Given the description of an element on the screen output the (x, y) to click on. 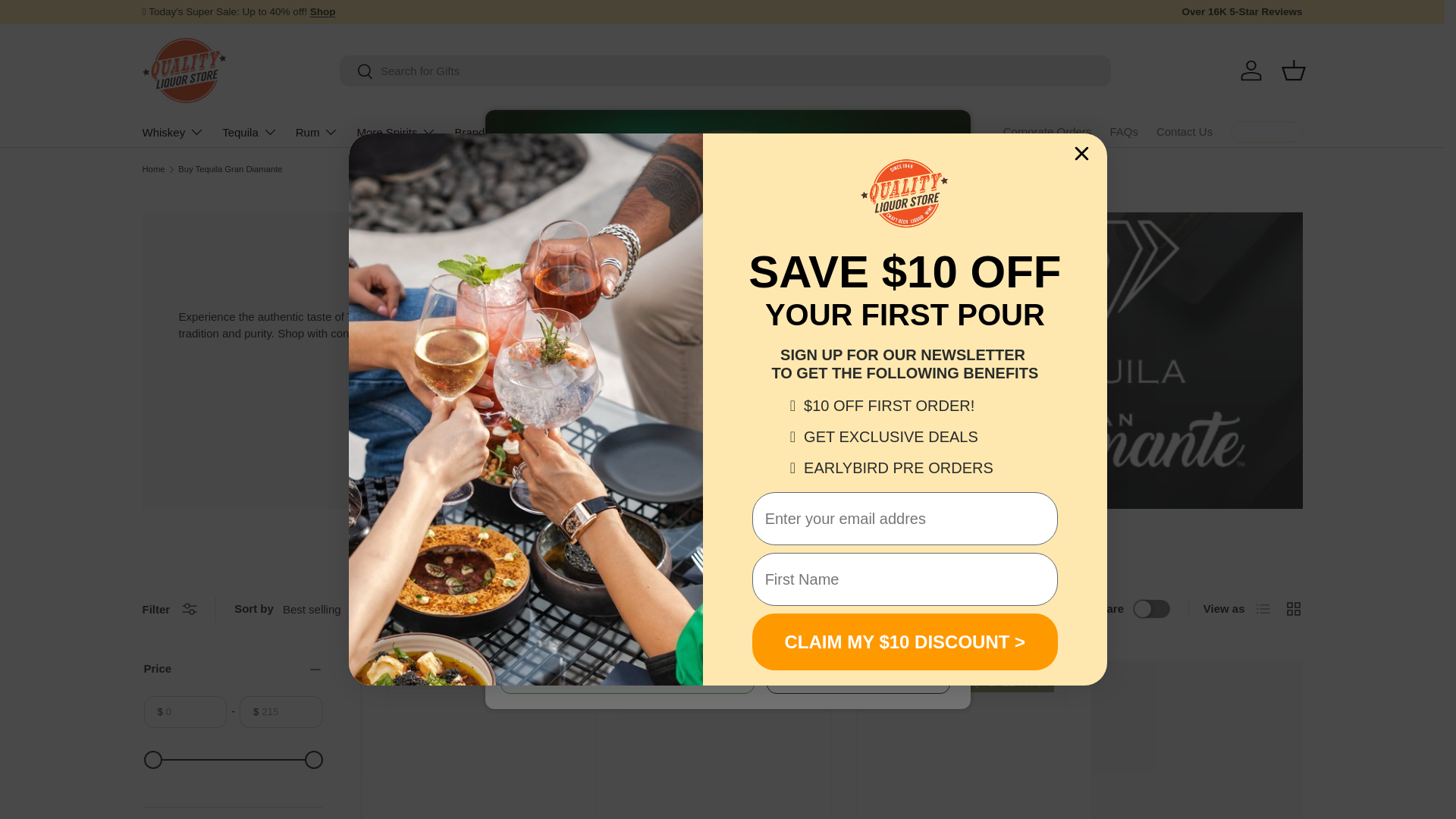
0 (233, 759)
Shop (323, 11)
Whiskey (173, 132)
Search (356, 72)
Over 16K 5-Star Reviews (1240, 11)
215 (233, 759)
Log in (1251, 70)
Rum (317, 132)
Tequila (250, 132)
SALE (323, 11)
More Spirits (395, 132)
SKIP TO CONTENT (68, 21)
